Given the description of an element on the screen output the (x, y) to click on. 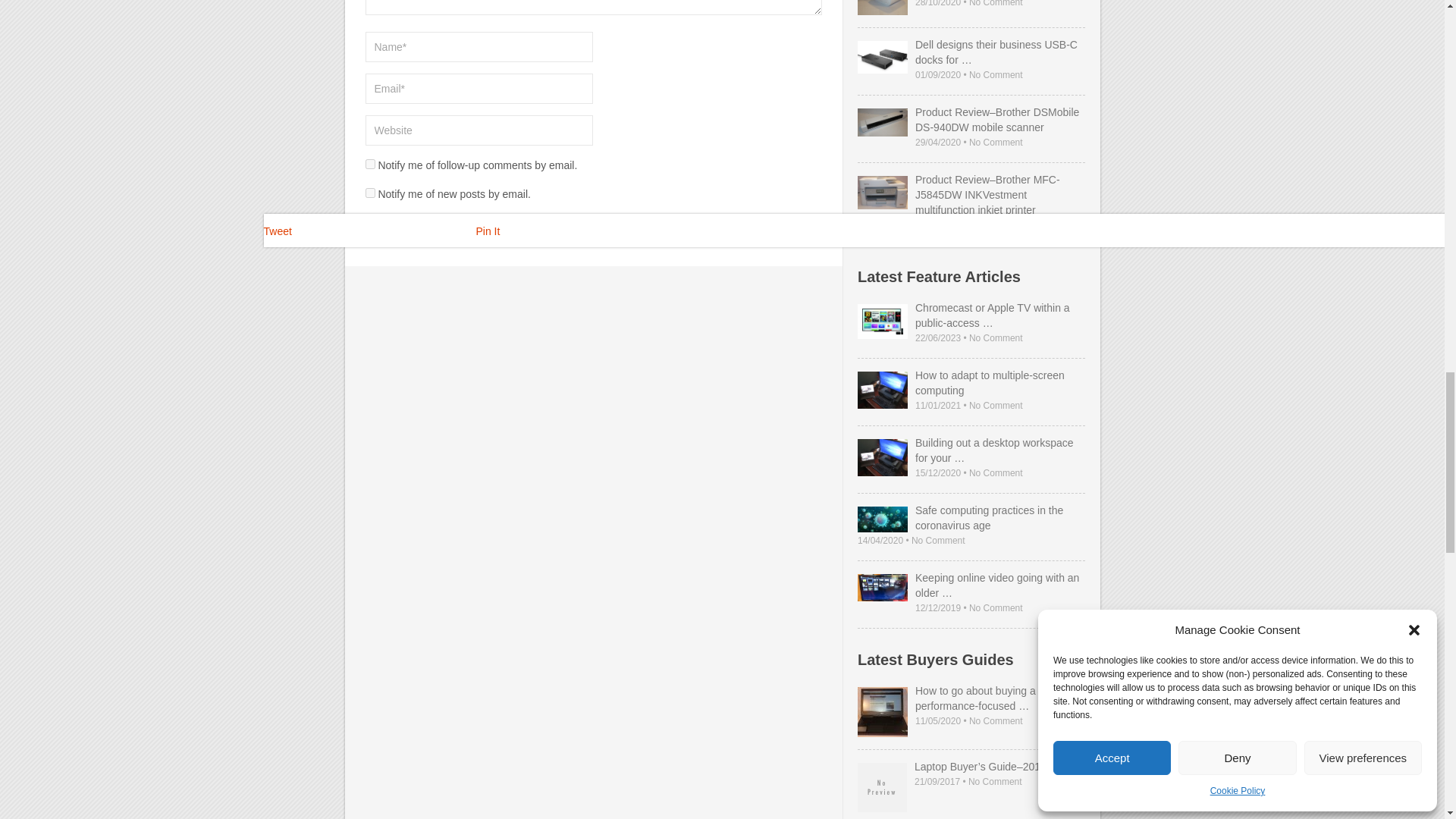
subscribe (370, 193)
subscribe (370, 163)
Post Comment (411, 228)
